Given the description of an element on the screen output the (x, y) to click on. 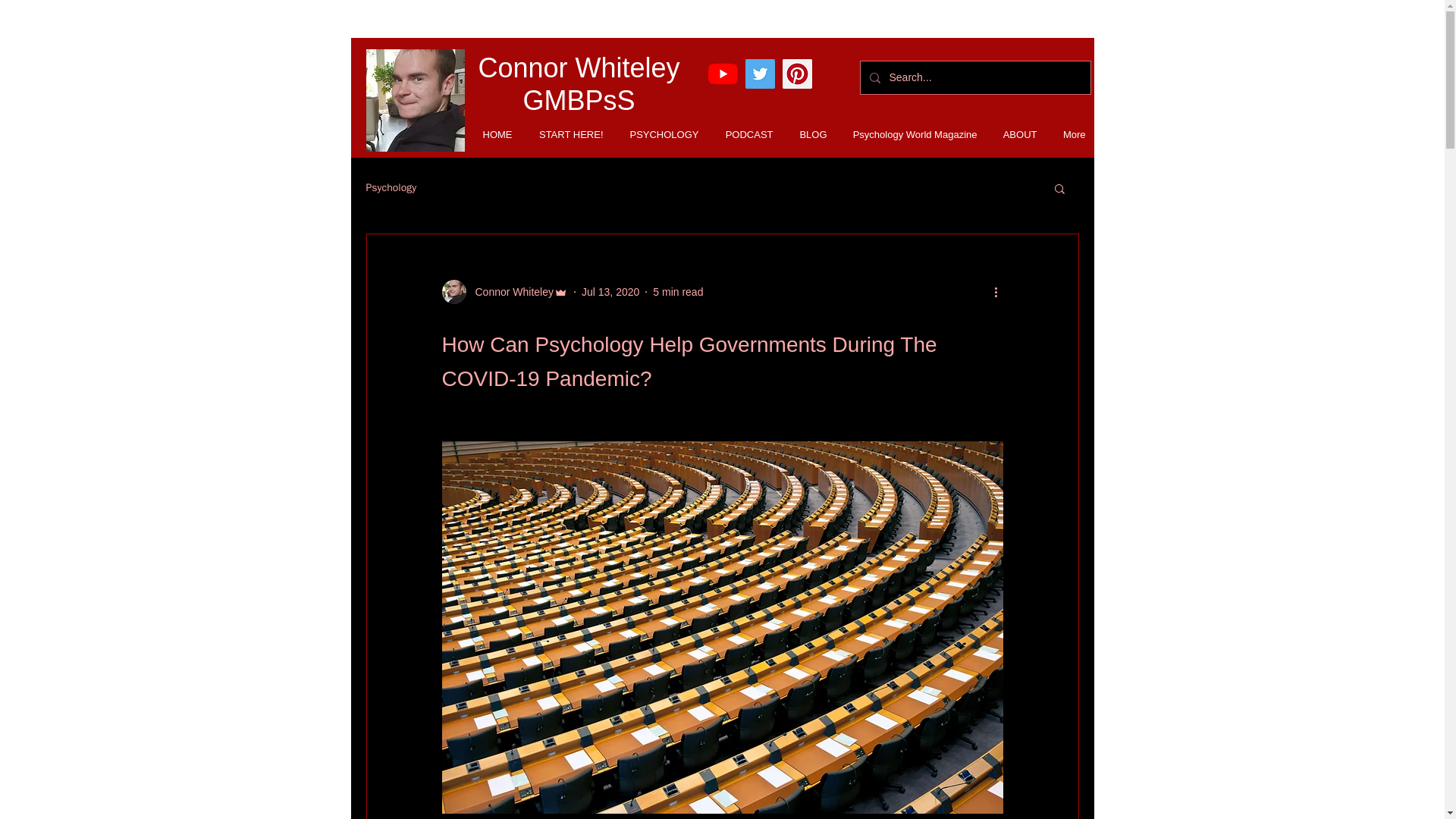
Psychology (390, 187)
PODCAST (743, 134)
Psychology World Magazine (910, 134)
 Connor Whiteley (509, 292)
START HERE! (565, 134)
5 min read (677, 291)
HOME (491, 134)
PSYCHOLOGY (658, 134)
Embedded Content (904, 69)
BLOG (807, 134)
Jul 13, 2020 (609, 291)
Connor Whiteley (504, 291)
ABOUT (1015, 134)
